Given the description of an element on the screen output the (x, y) to click on. 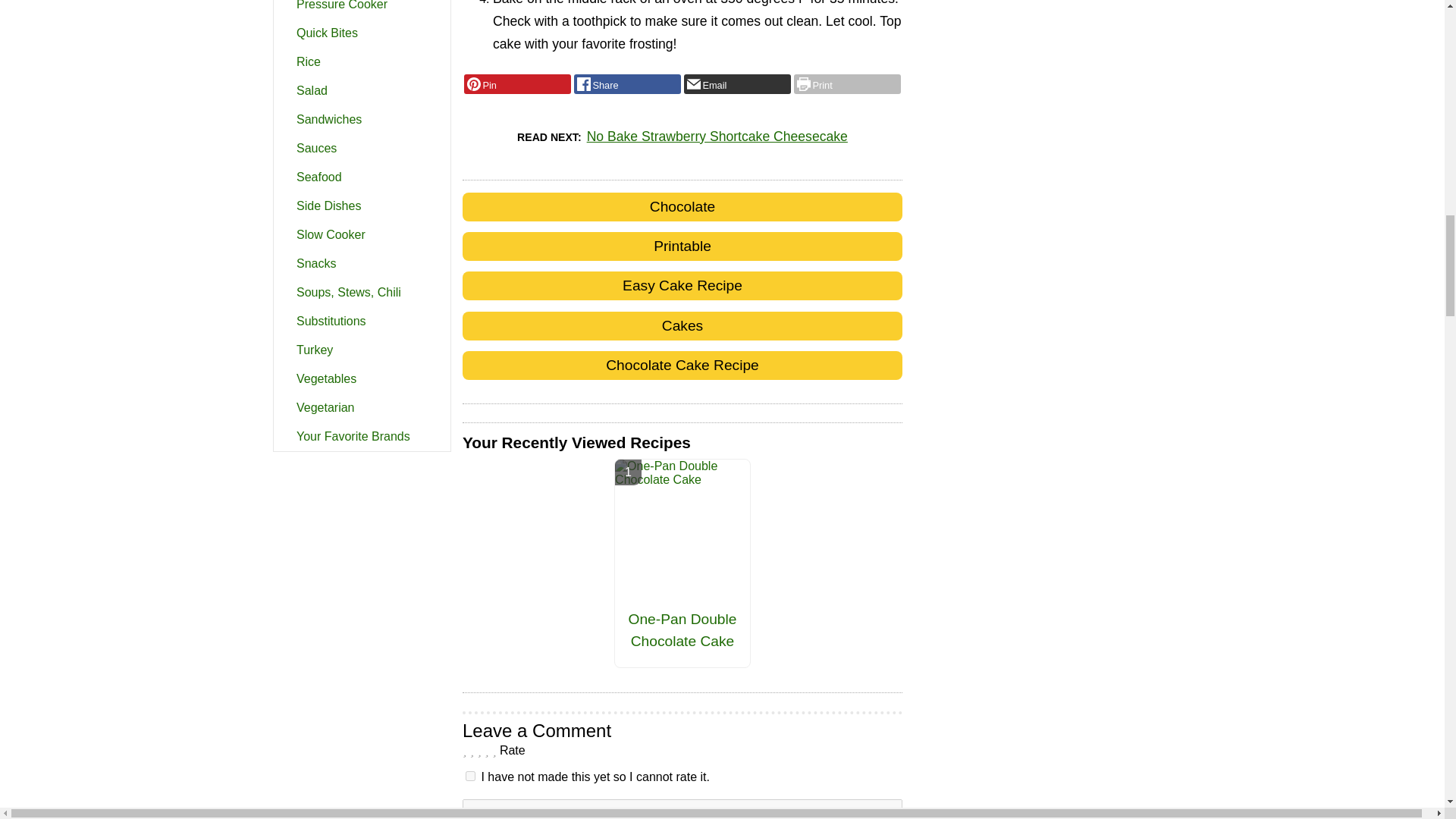
Print (847, 84)
Facebook (627, 84)
Email (737, 84)
1 (470, 776)
